Given the description of an element on the screen output the (x, y) to click on. 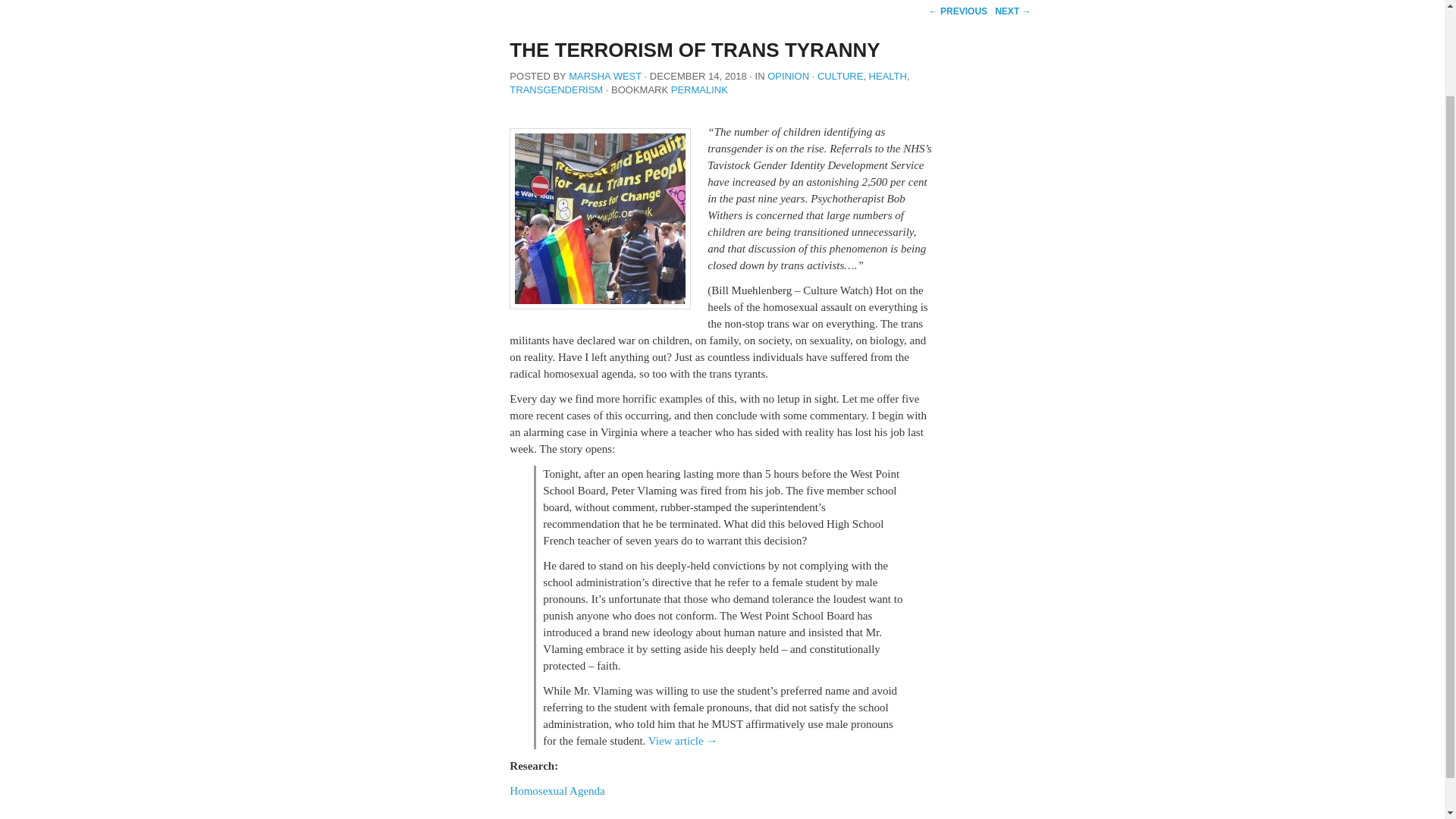
TRANSGENDERISM (555, 89)
Homosexual Agenda (556, 790)
View all posts by Marsha West (605, 75)
PERMALINK (699, 89)
Permalink to The Terrorism of Trans Tyranny (699, 89)
MARSHA WEST (605, 75)
